Given the description of an element on the screen output the (x, y) to click on. 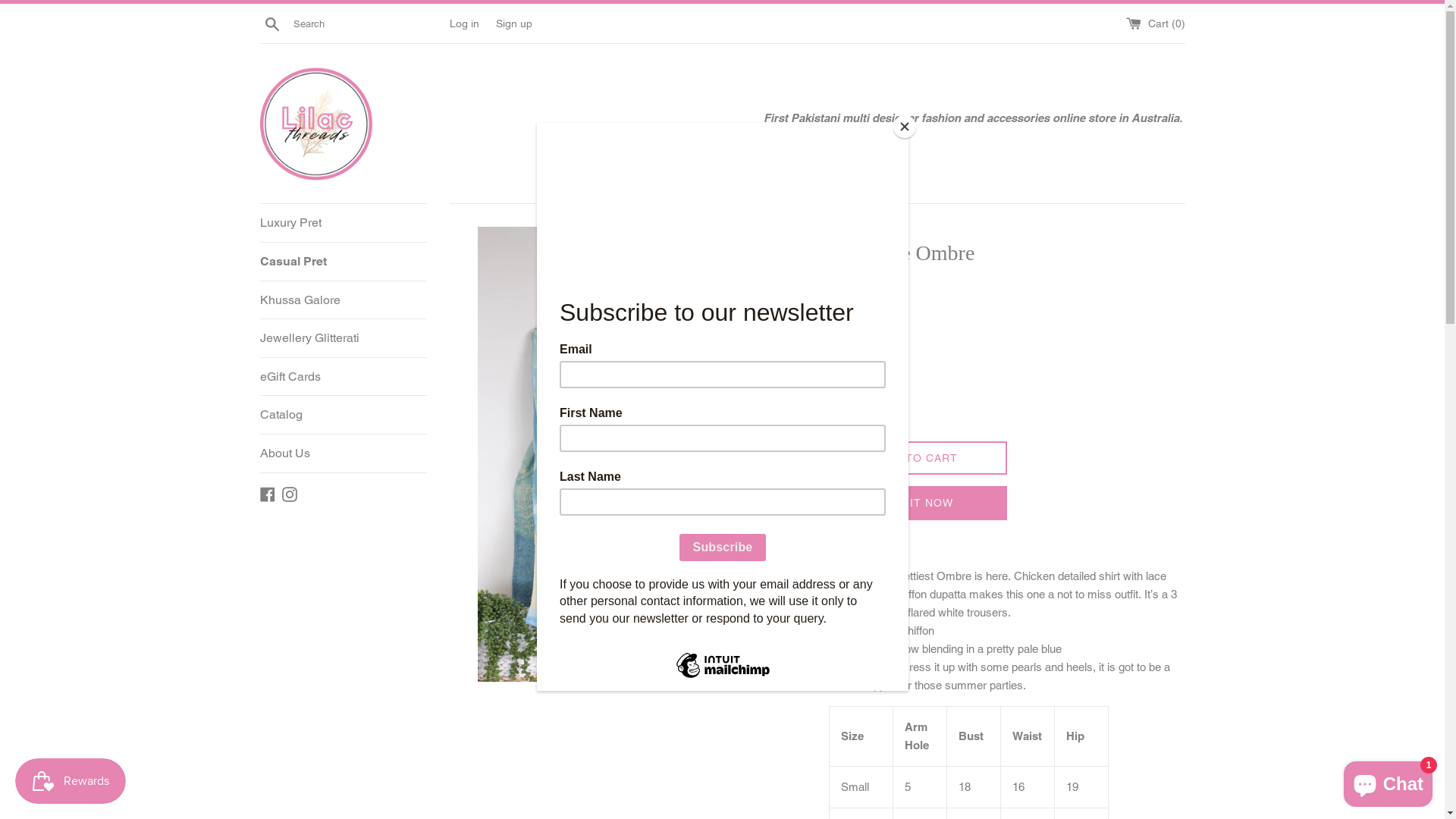
Casual Pret Element type: text (342, 261)
About Us Element type: text (342, 453)
Facebook Element type: text (266, 492)
Jewellery Glitterati Element type: text (342, 338)
Cart (0) Element type: text (1154, 22)
Catalog Element type: text (342, 414)
Sign up Element type: text (513, 22)
Smile.io Rewards Program Launcher Element type: hover (70, 780)
Shopify online store chat Element type: hover (1388, 780)
Khussa Galore Element type: text (342, 300)
eGift Cards Element type: text (342, 376)
Luxury Pret Element type: text (342, 222)
Search Element type: text (271, 23)
ADD TO CART Element type: text (917, 458)
Instagram Element type: text (289, 492)
BUY IT NOW Element type: text (917, 503)
Log in Element type: text (463, 22)
